Given the description of an element on the screen output the (x, y) to click on. 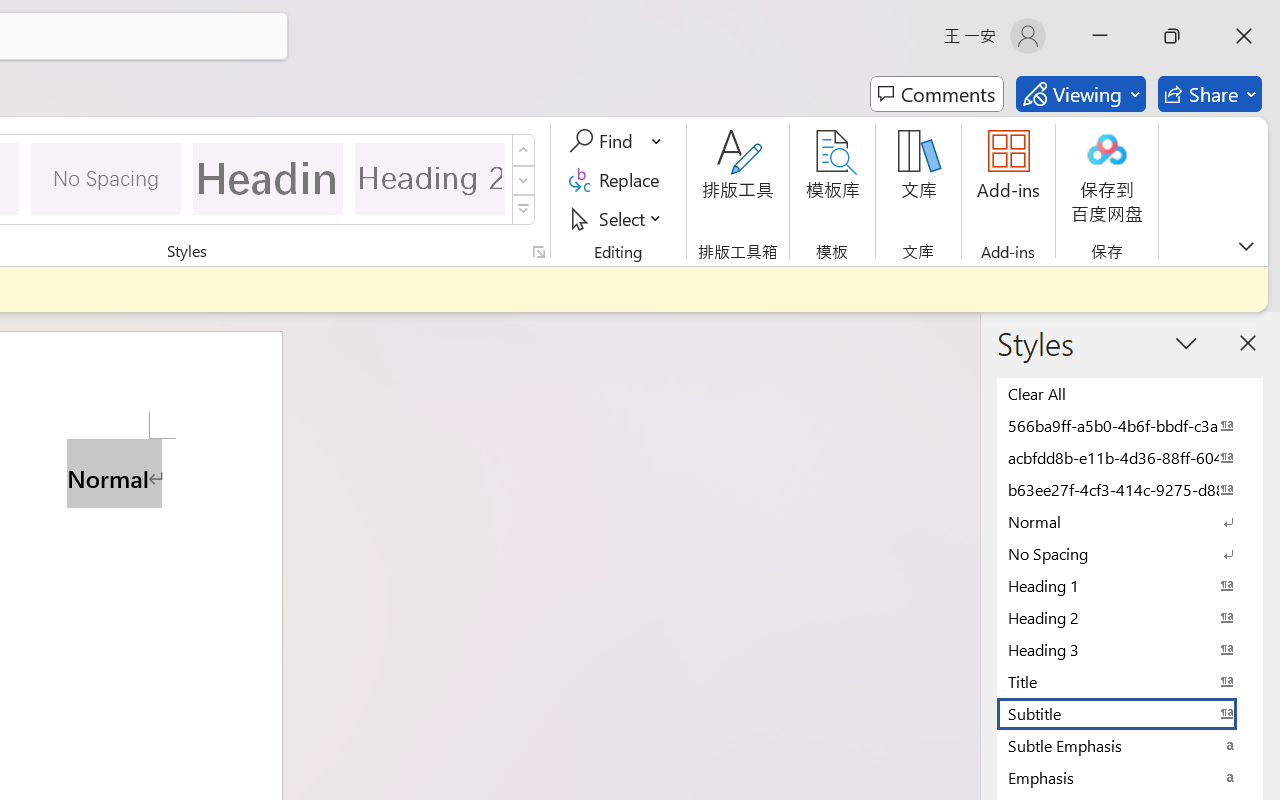
Clear All (1130, 393)
Heading 1 (267, 178)
